Given the description of an element on the screen output the (x, y) to click on. 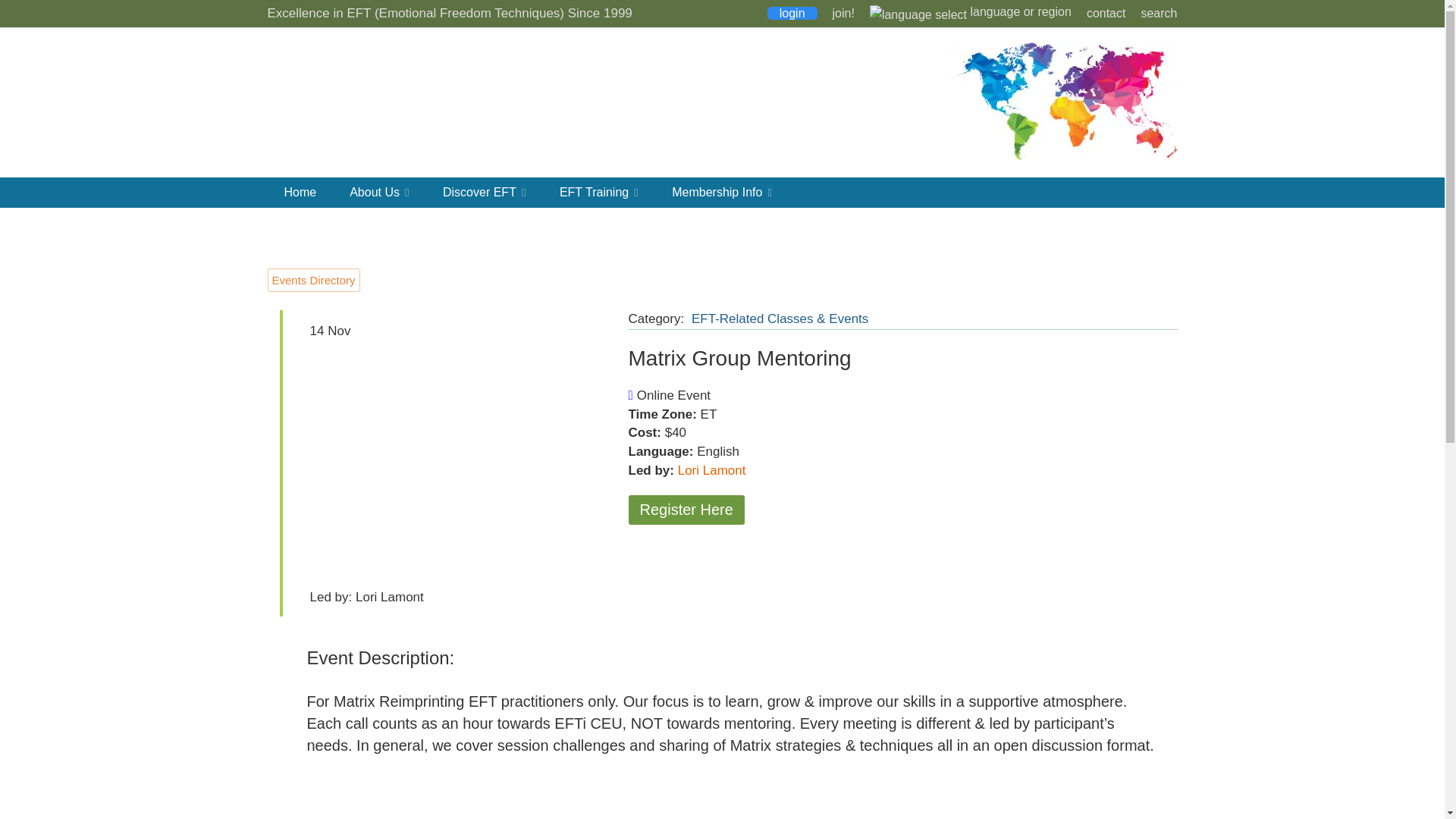
login (791, 12)
language or region (970, 11)
join! (843, 12)
EFT Training (598, 192)
search (1158, 12)
EFT International (387, 102)
About Us (379, 192)
Discover EFT (484, 192)
Home (299, 192)
Lori Lamont profile (711, 470)
